Given the description of an element on the screen output the (x, y) to click on. 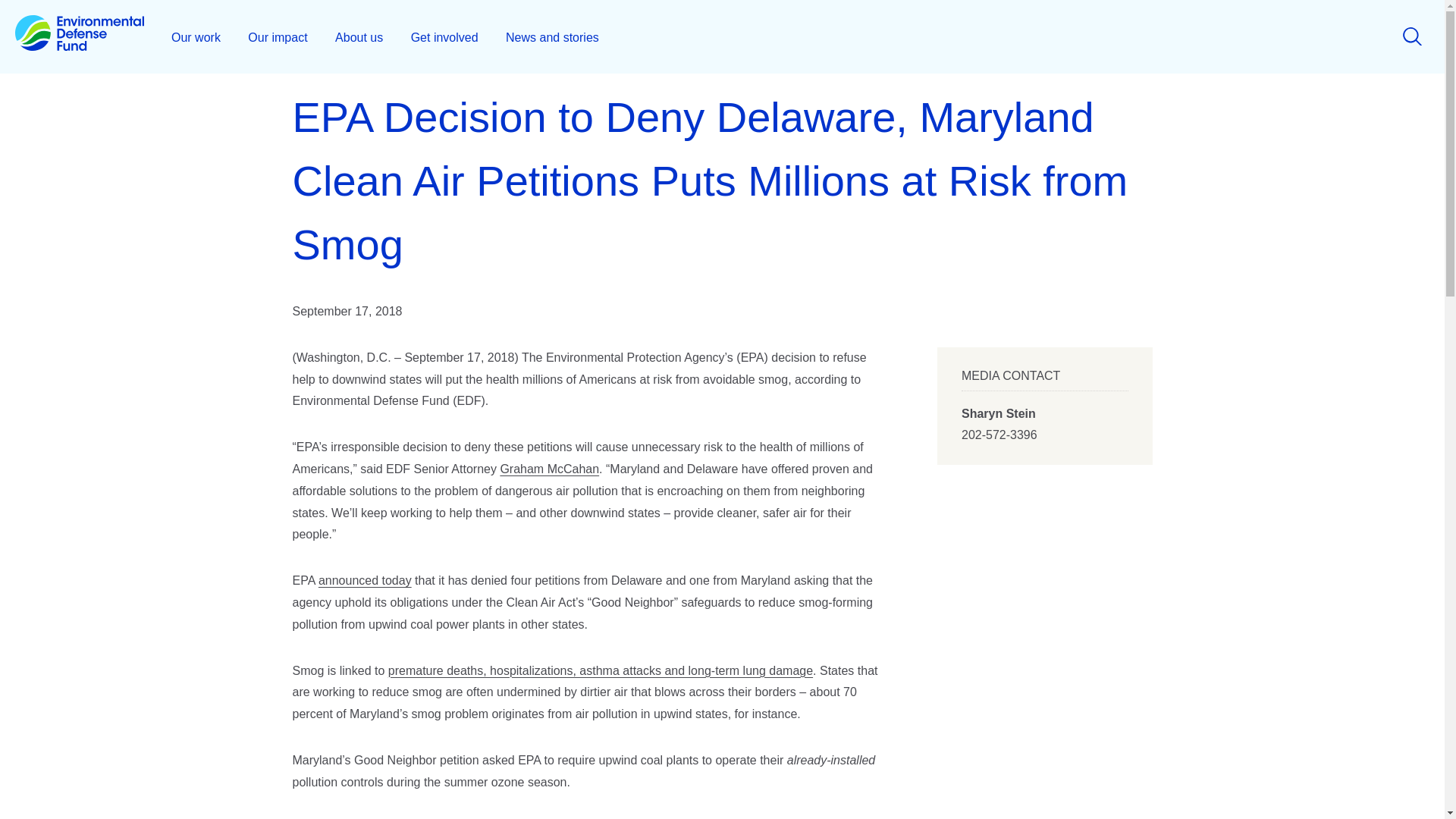
Home (79, 36)
News and stories (552, 36)
Magnifying Glass (1412, 36)
About us (358, 36)
Our work (195, 36)
Magnifying Glass (1411, 36)
Environmental Defense Fund (79, 36)
Get involved (444, 36)
Our impact (276, 36)
